Given the description of an element on the screen output the (x, y) to click on. 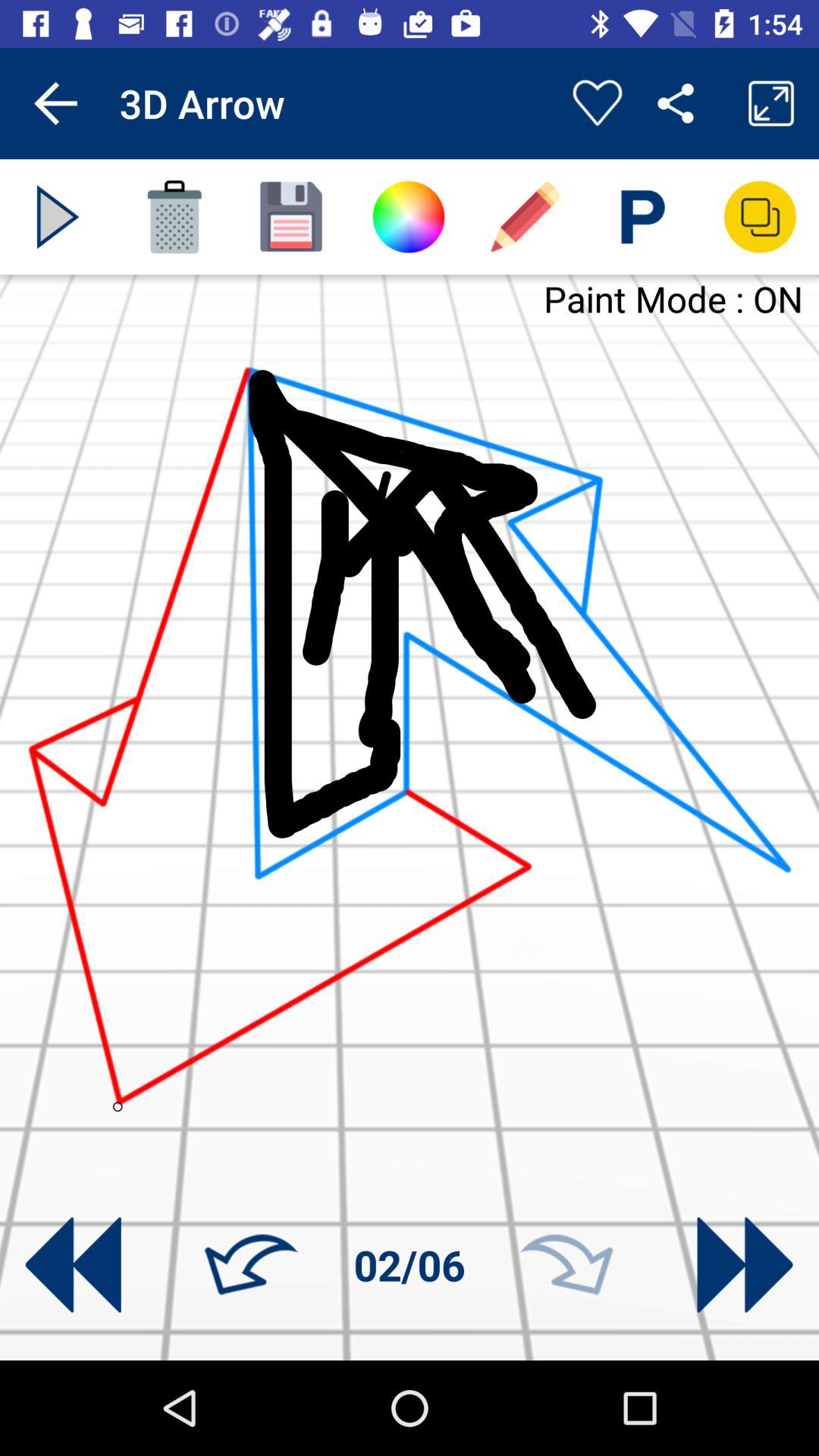
draw (525, 216)
